Given the description of an element on the screen output the (x, y) to click on. 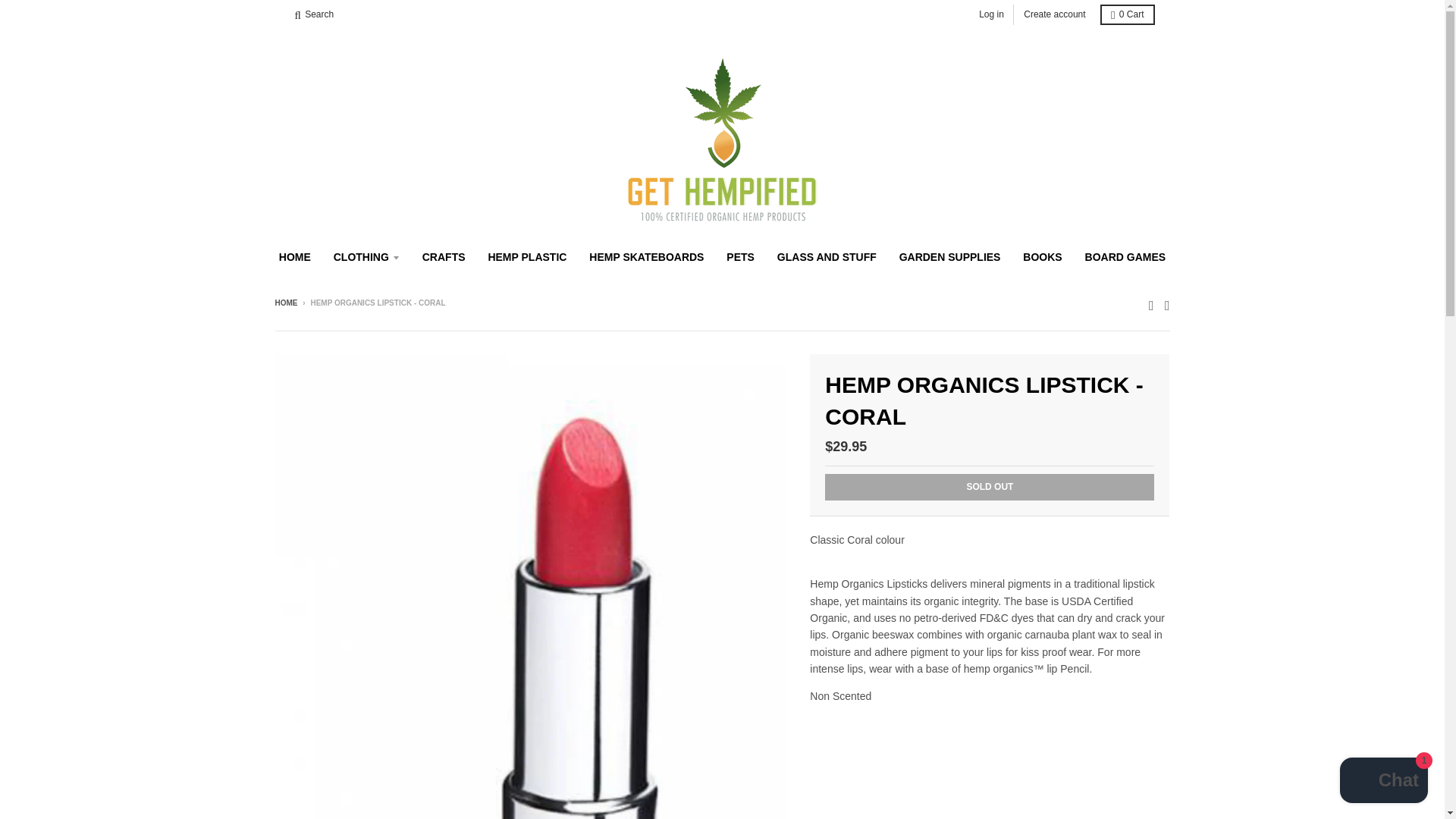
BOARD GAMES (1125, 257)
CRAFTS (444, 257)
HEMP PLASTIC (526, 257)
HOME (294, 257)
0 Cart (1127, 14)
HEMP SKATEBOARDS (646, 257)
Log in (991, 14)
PETS (740, 257)
Search (313, 14)
Shopify online store chat (1383, 781)
Back to the frontpage (286, 302)
GARDEN SUPPLIES (949, 257)
BOOKS (1042, 257)
CLOTHING (366, 257)
GLASS AND STUFF (826, 257)
